Given the description of an element on the screen output the (x, y) to click on. 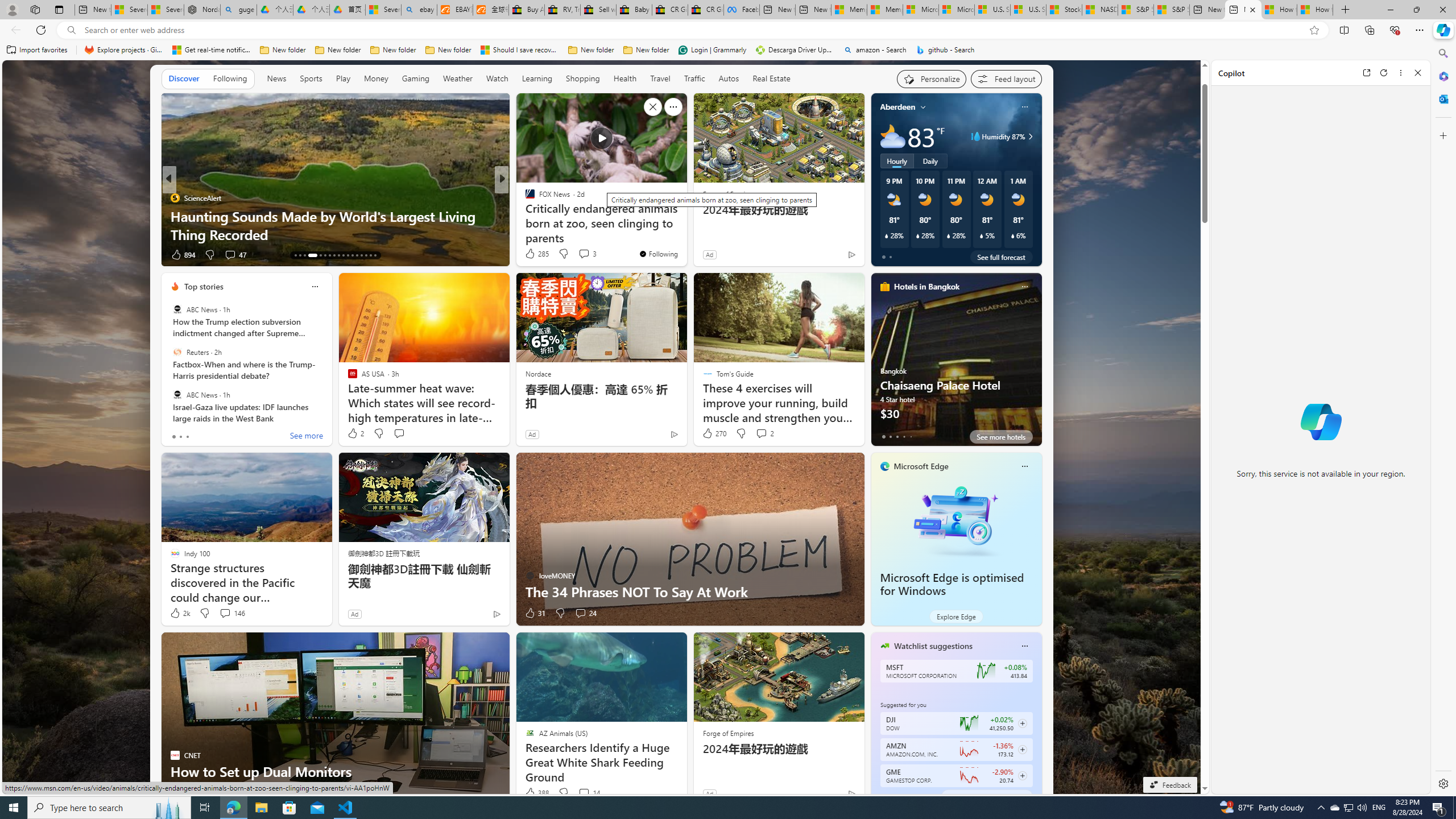
amazon - Search (875, 49)
Customize (1442, 135)
Rarest.org (174, 215)
9 Uncharted Coral Reefs Hosting Rare Marine Life (335, 234)
42 Like (179, 792)
Sports (310, 79)
AutomationID: tab-24 (352, 255)
Open link in new tab (1366, 72)
Weather (457, 79)
